Given the description of an element on the screen output the (x, y) to click on. 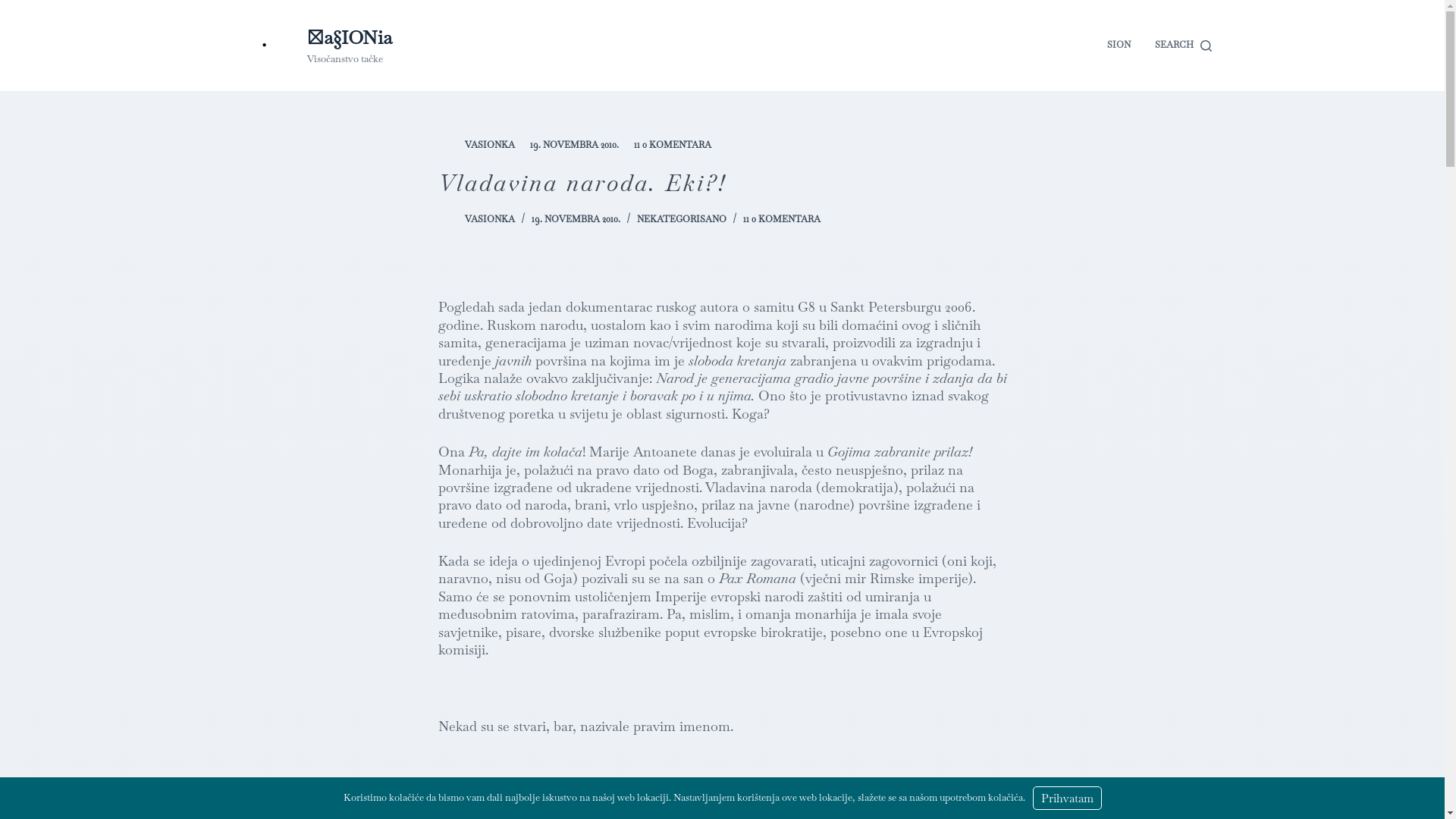
SEARCH Element type: text (1182, 45)
11 0 KOMENTARA Element type: text (672, 144)
SION Element type: text (1118, 44)
NEKATEGORISANO Element type: text (681, 219)
11 0 KOMENTARA Element type: text (781, 219)
Skip to content Element type: text (15, 7)
VASIONKA Element type: text (489, 144)
Prihvatam Element type: text (1066, 797)
VASIONKA Element type: text (489, 219)
